Given the description of an element on the screen output the (x, y) to click on. 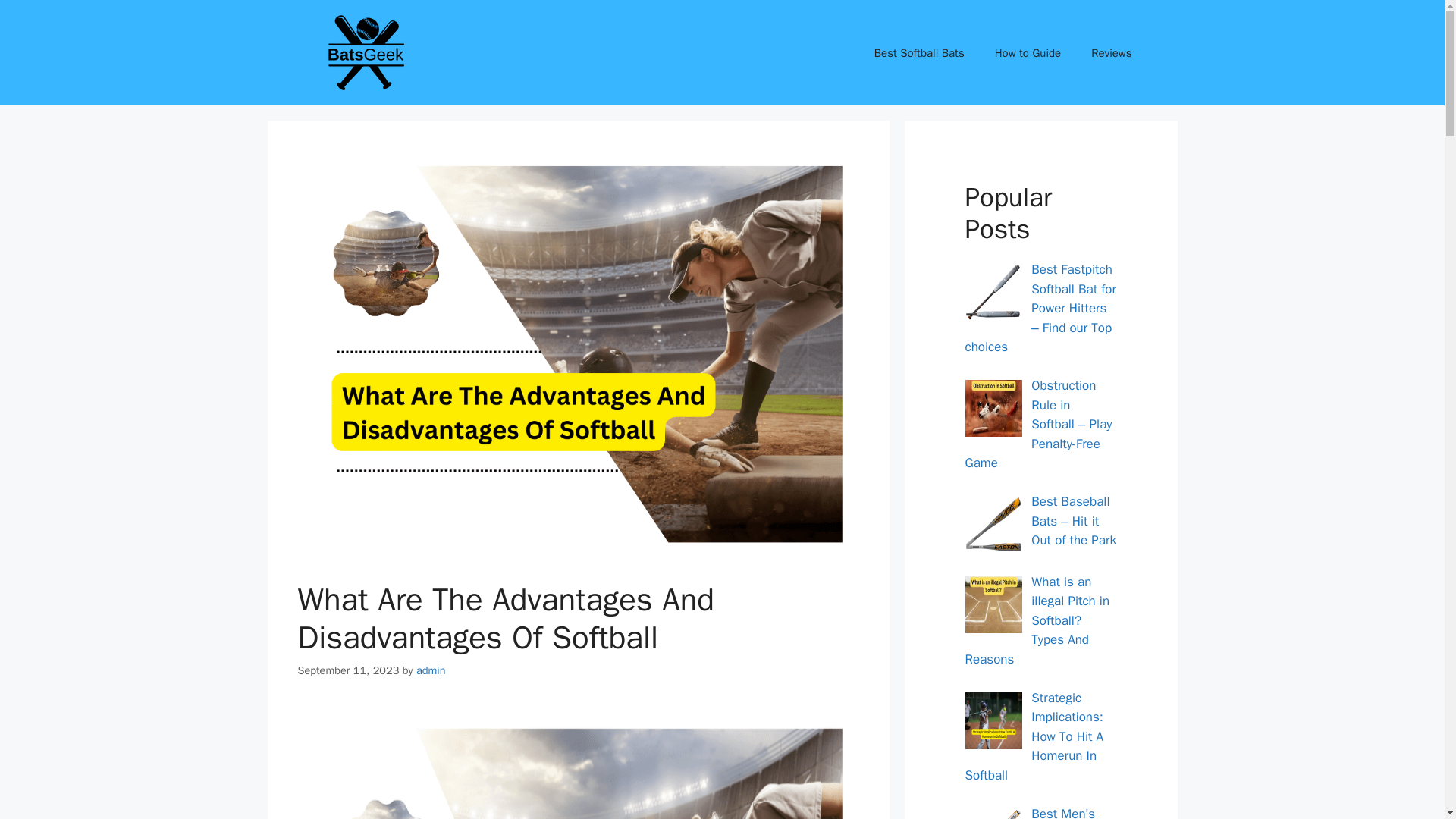
View all posts by admin (430, 670)
Reviews (1111, 53)
Strategic Implications: How To Hit A Homerun In Softball (1033, 736)
How to Guide (1027, 53)
admin (430, 670)
What is an illegal Pitch in Softball? Types And Reasons (1036, 620)
Best Softball Bats (919, 53)
